Given the description of an element on the screen output the (x, y) to click on. 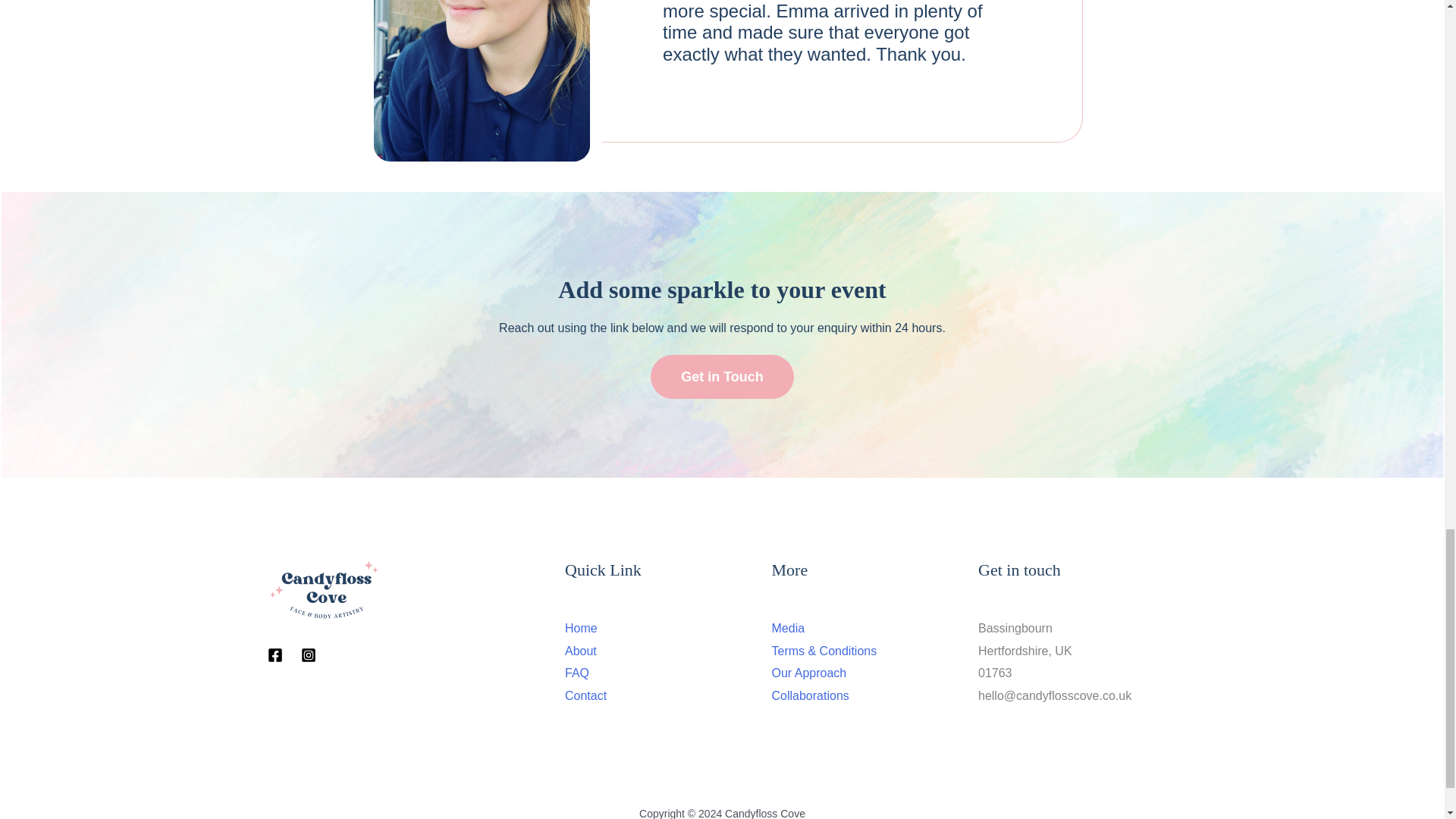
FAQ (576, 672)
Get in Touch (721, 376)
Media (788, 627)
About (580, 650)
Home (580, 627)
Collaborations (809, 695)
Contact (585, 695)
Our Approach (809, 672)
